Given the description of an element on the screen output the (x, y) to click on. 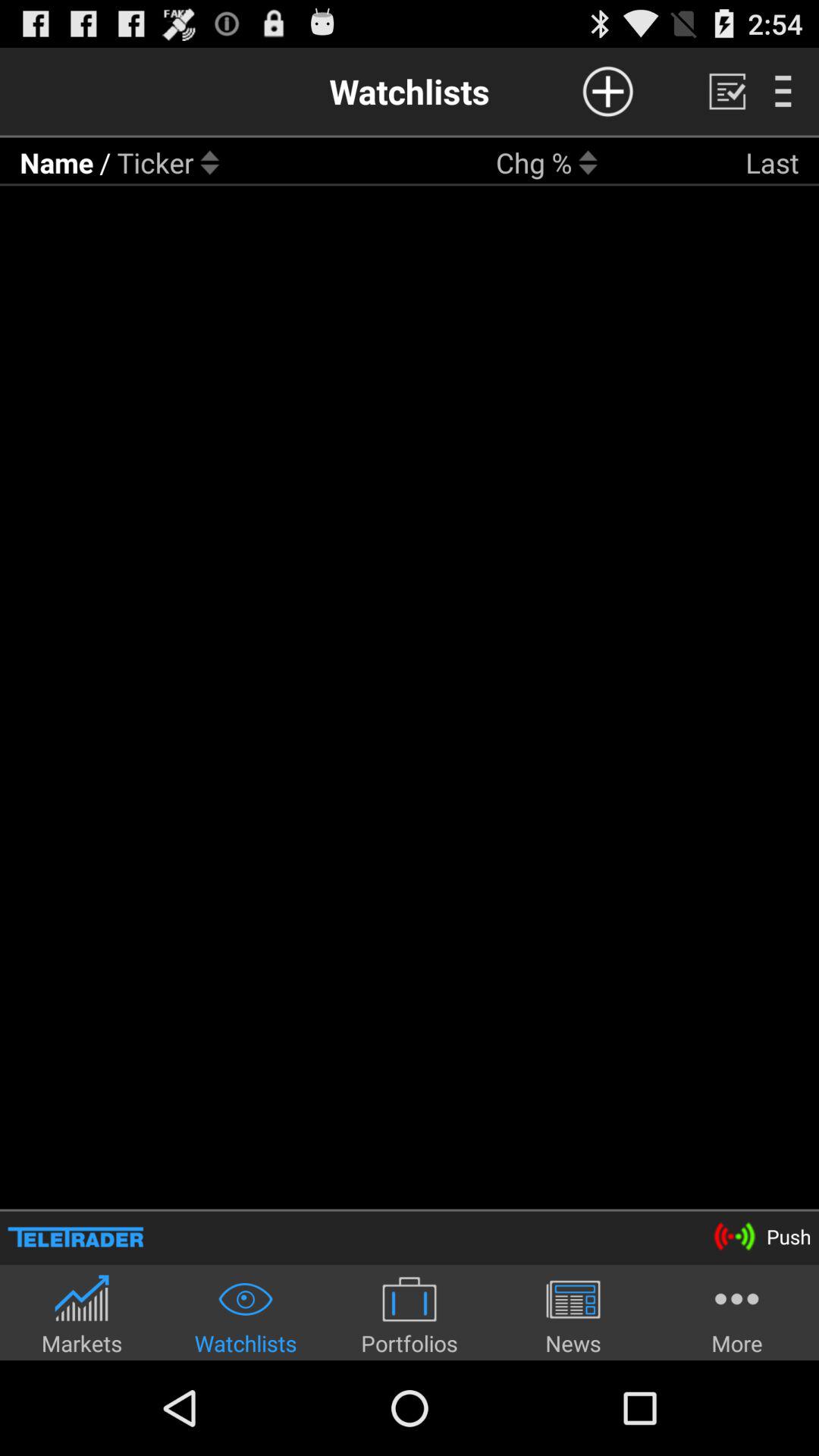
jump to news icon (573, 1314)
